Given the description of an element on the screen output the (x, y) to click on. 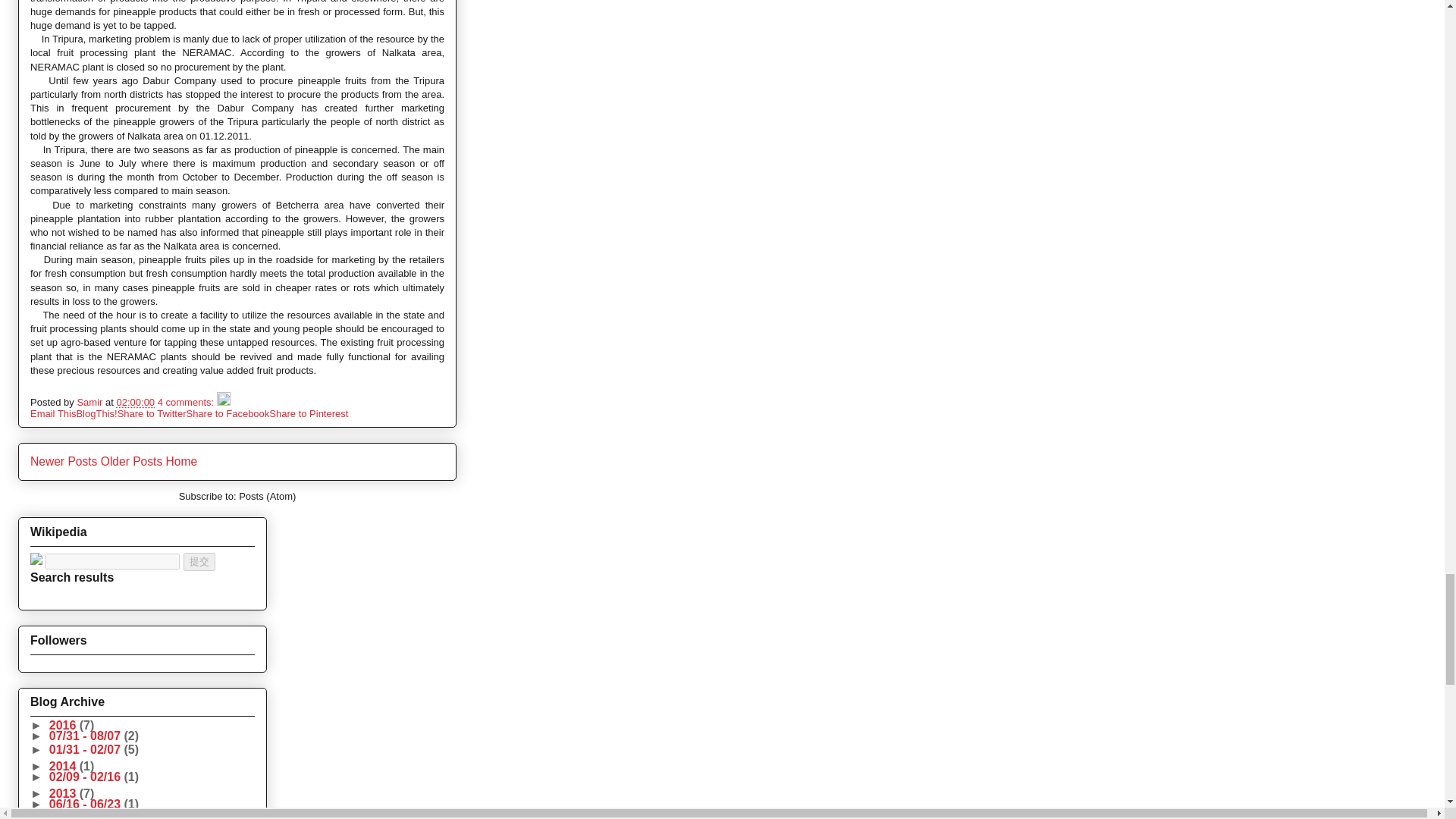
02:00:00 (135, 401)
4 comments: (186, 401)
Samir (90, 401)
